Given the description of an element on the screen output the (x, y) to click on. 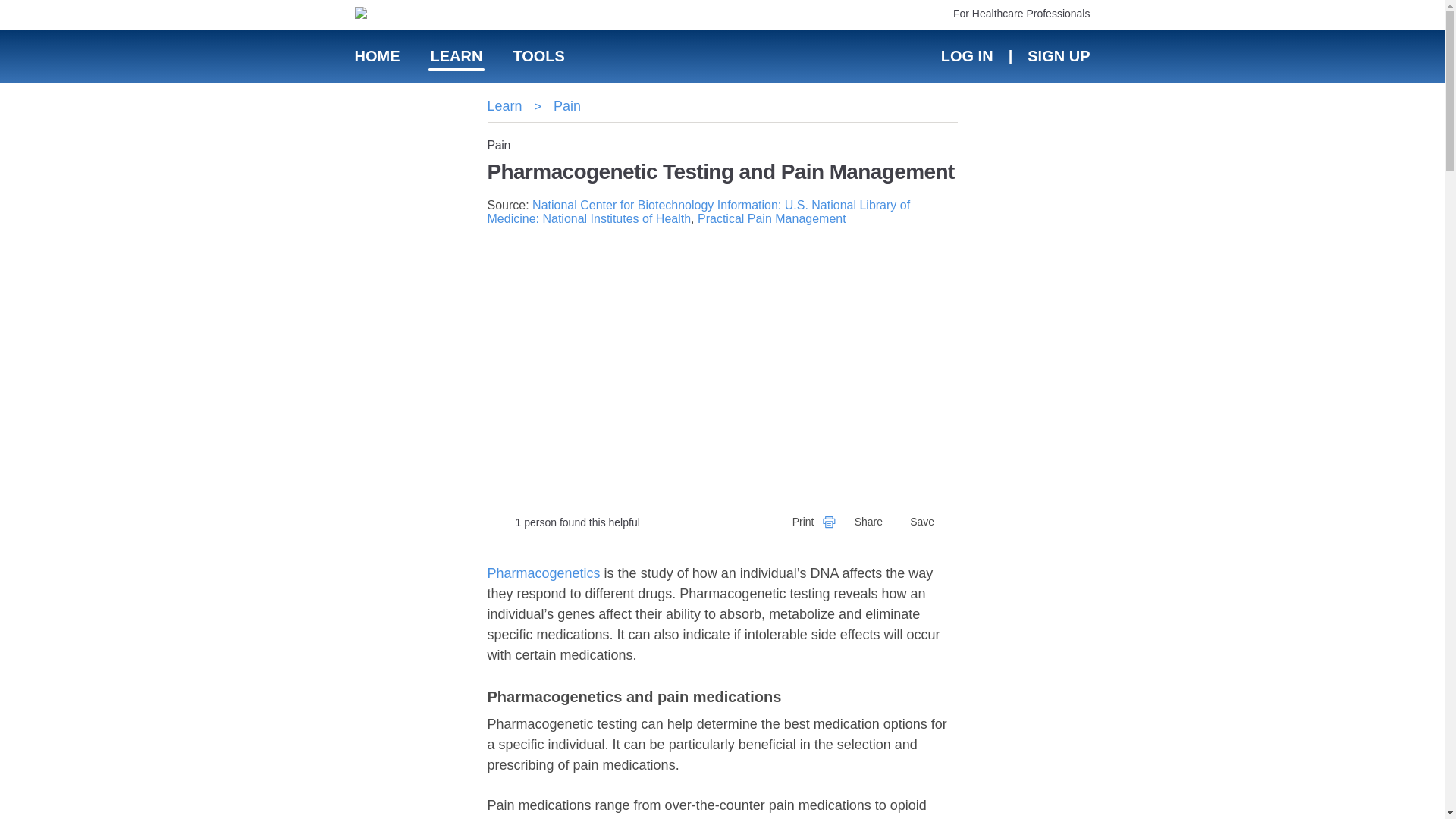
Pharmacogenetics (542, 572)
Practical Pain Management (771, 218)
LEARN (456, 55)
SIGN UP (1056, 55)
For Healthcare Professionals (1021, 13)
HOME (377, 55)
TOOLS (538, 55)
Learn (503, 105)
LOG IN (966, 55)
